Given the description of an element on the screen output the (x, y) to click on. 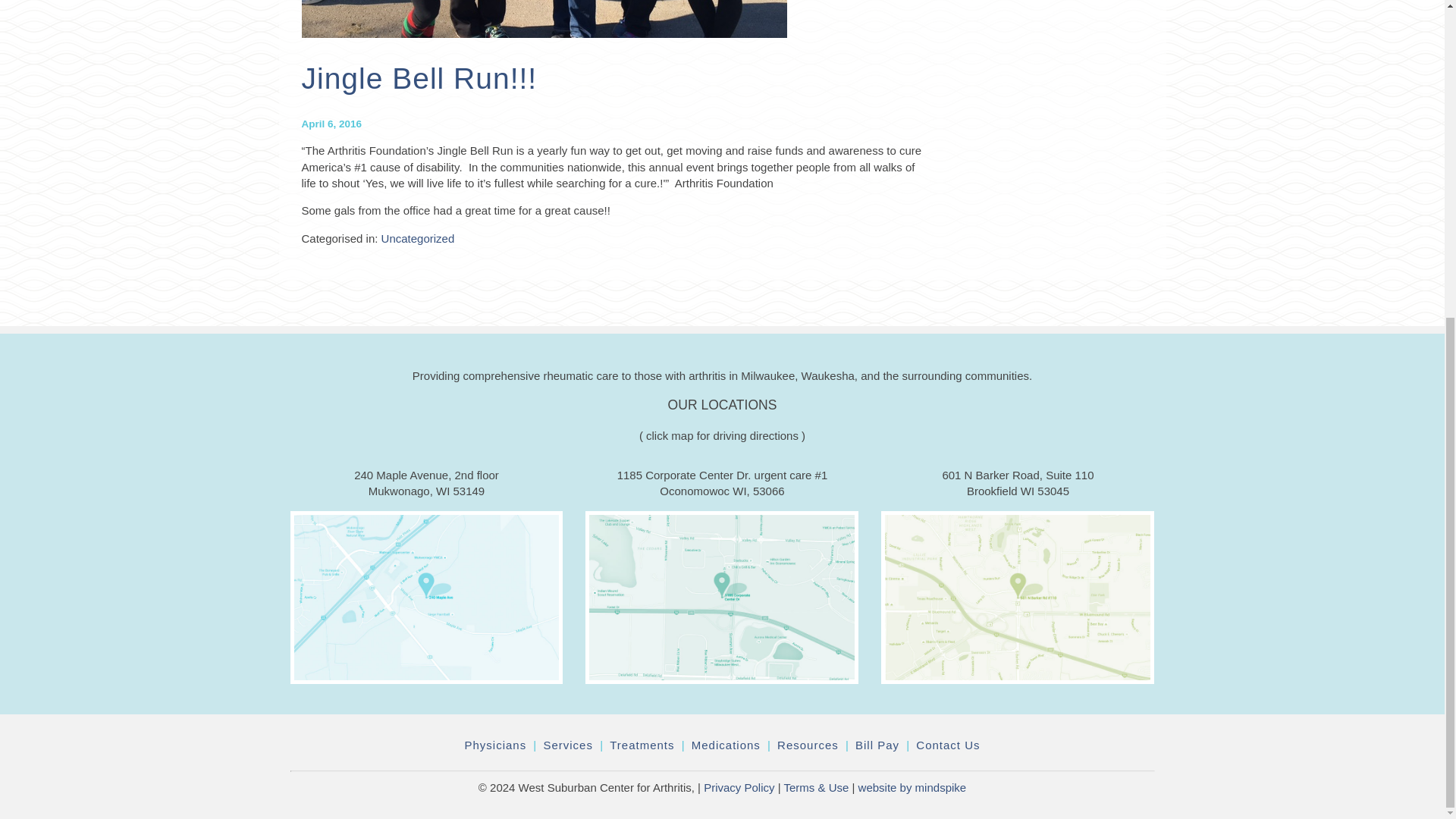
Jingle Bell Run!!! (419, 78)
Jingle Bell Run!!! (544, 29)
Uncategorized (417, 237)
Physicians (494, 744)
Jingle Bell Run!!! (419, 78)
